Given the description of an element on the screen output the (x, y) to click on. 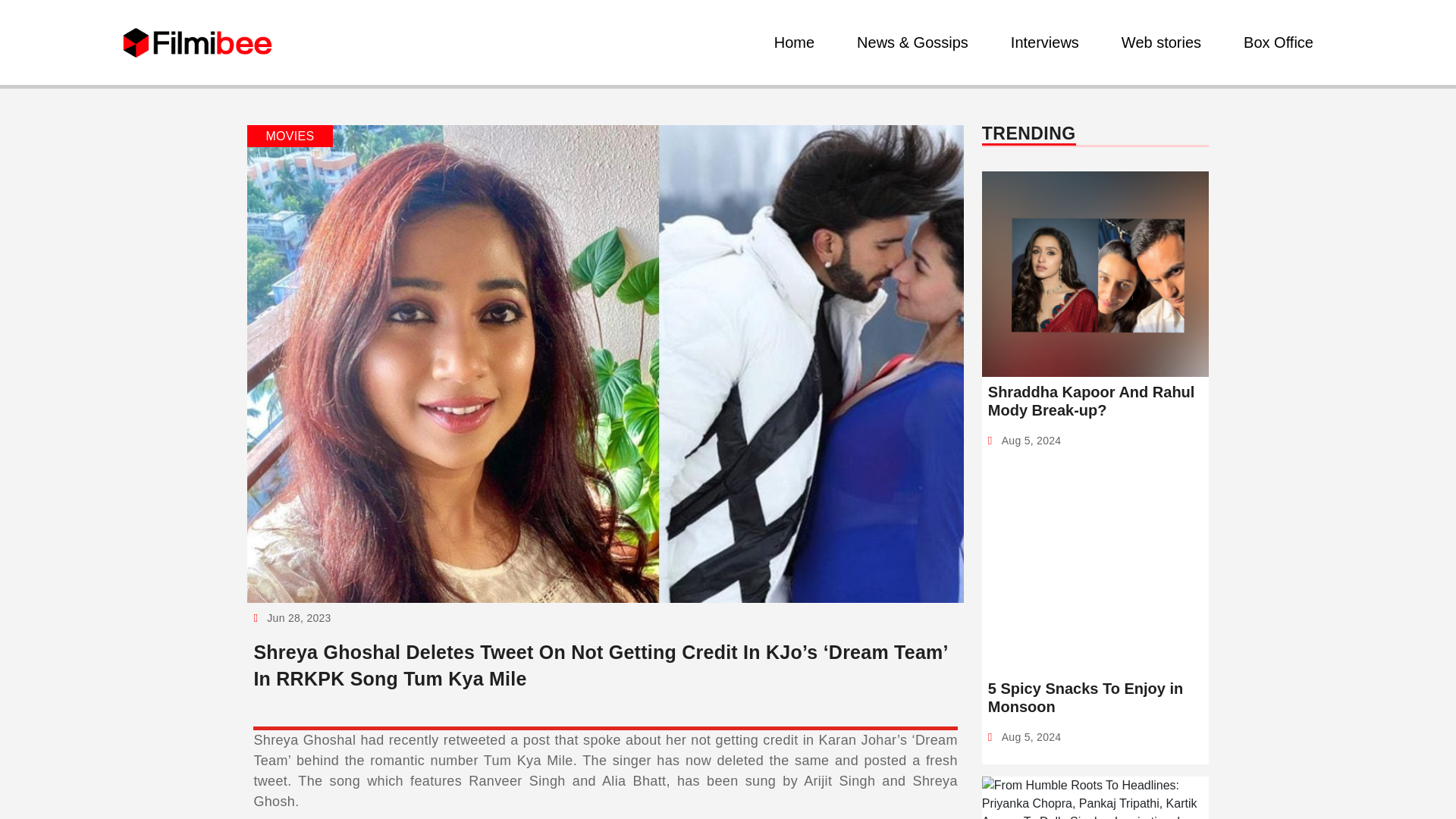
Interviews (1044, 42)
Home (794, 42)
Web stories (1161, 42)
Box Office (1278, 42)
Shraddha Kapoor And Rahul Mody Break-up? (1095, 401)
5 Spicy Snacks To Enjoy in Monsoon (1095, 697)
